Given the description of an element on the screen output the (x, y) to click on. 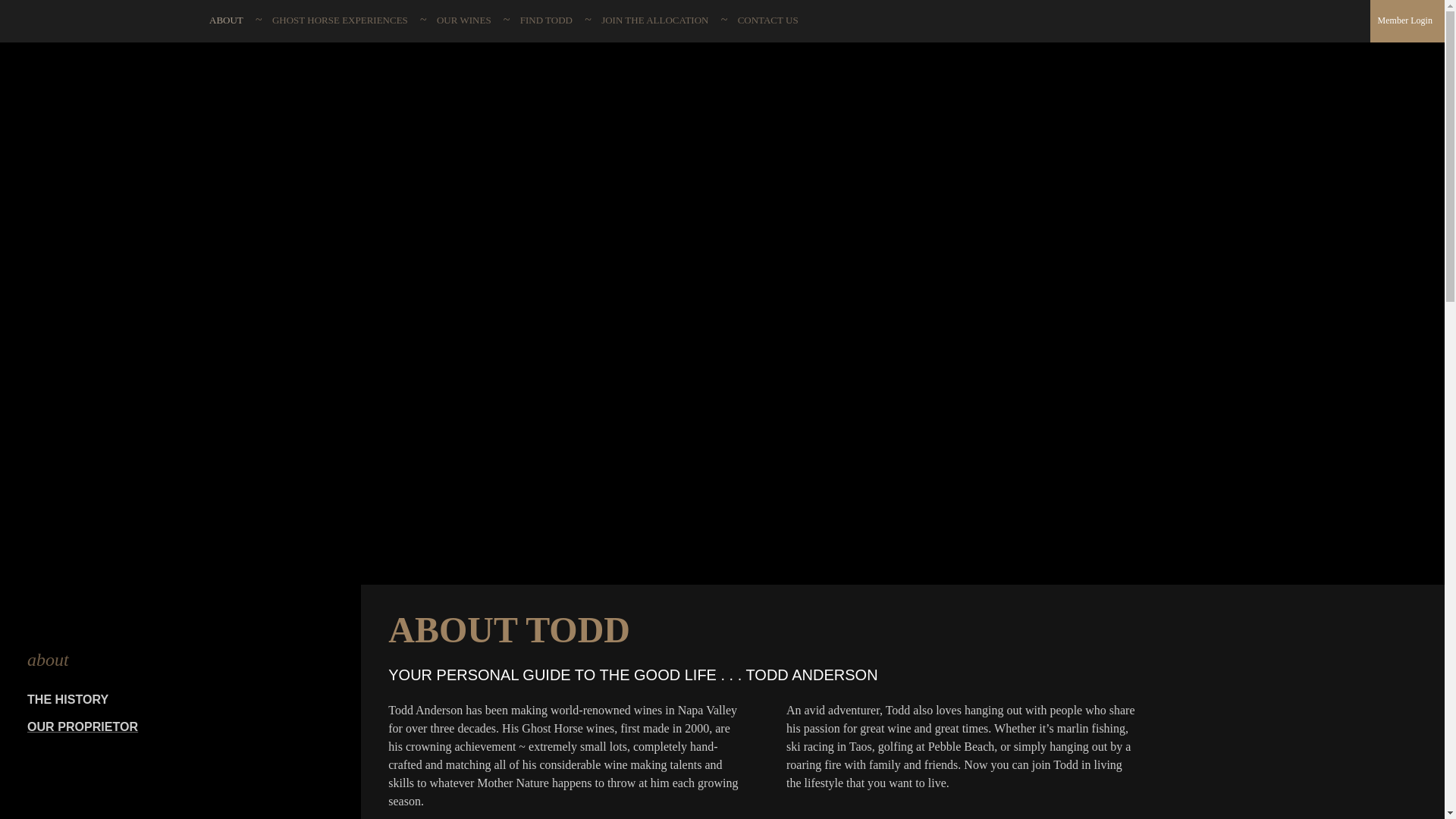
FIND TODD (545, 20)
ABOUT (226, 20)
GHOST HORSE EXPERIENCES (339, 20)
JOIN THE ALLOCATION (654, 20)
THE HISTORY (180, 699)
OUR PROPRIETOR (180, 726)
CONTACT US (767, 20)
Member Login (1404, 20)
GHOST HORSE VINEYARDS (100, 22)
OUR WINES (464, 20)
